Given the description of an element on the screen output the (x, y) to click on. 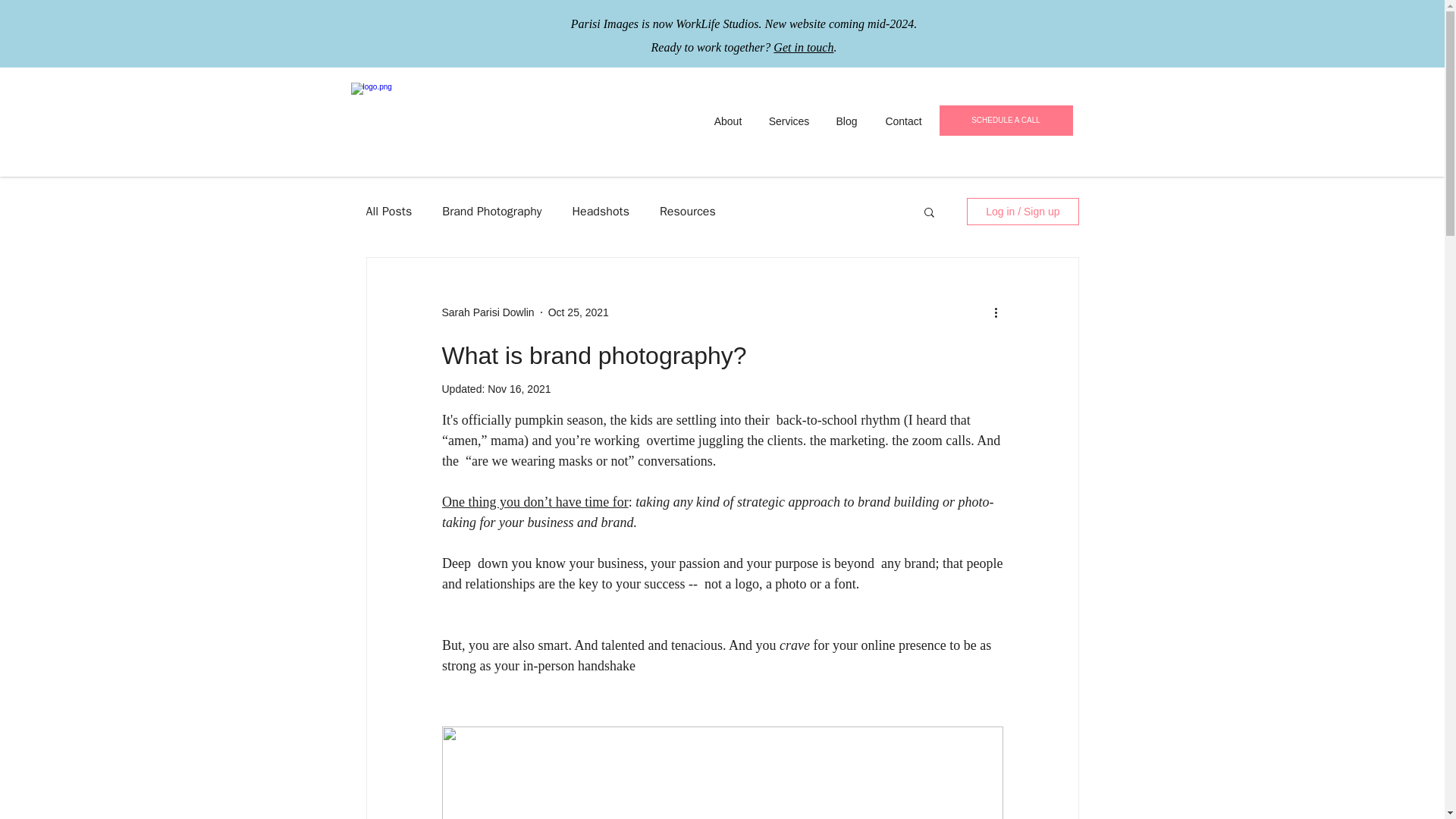
Brand Photography (491, 211)
Oct 25, 2021 (578, 312)
Blog (846, 121)
Headshots (600, 211)
Get in touch (802, 47)
Nov 16, 2021 (518, 388)
Resources (687, 211)
About (727, 121)
Contact (903, 121)
Sarah Parisi Dowlin (487, 312)
